Given the description of an element on the screen output the (x, y) to click on. 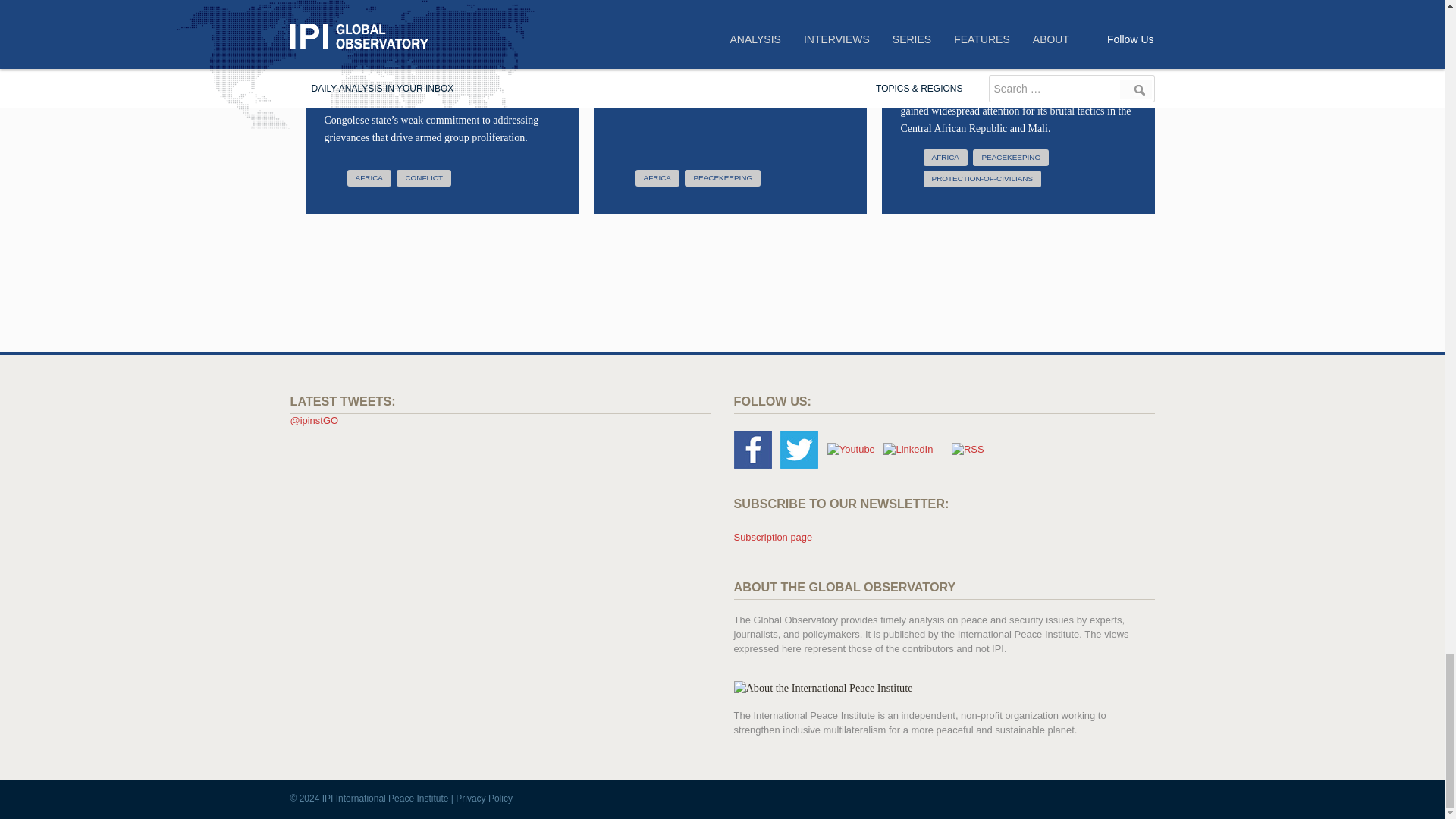
LinkedIn (908, 449)
Youtube (850, 449)
Facebook (752, 449)
Twitter (799, 449)
protection of civilians (982, 178)
